Given the description of an element on the screen output the (x, y) to click on. 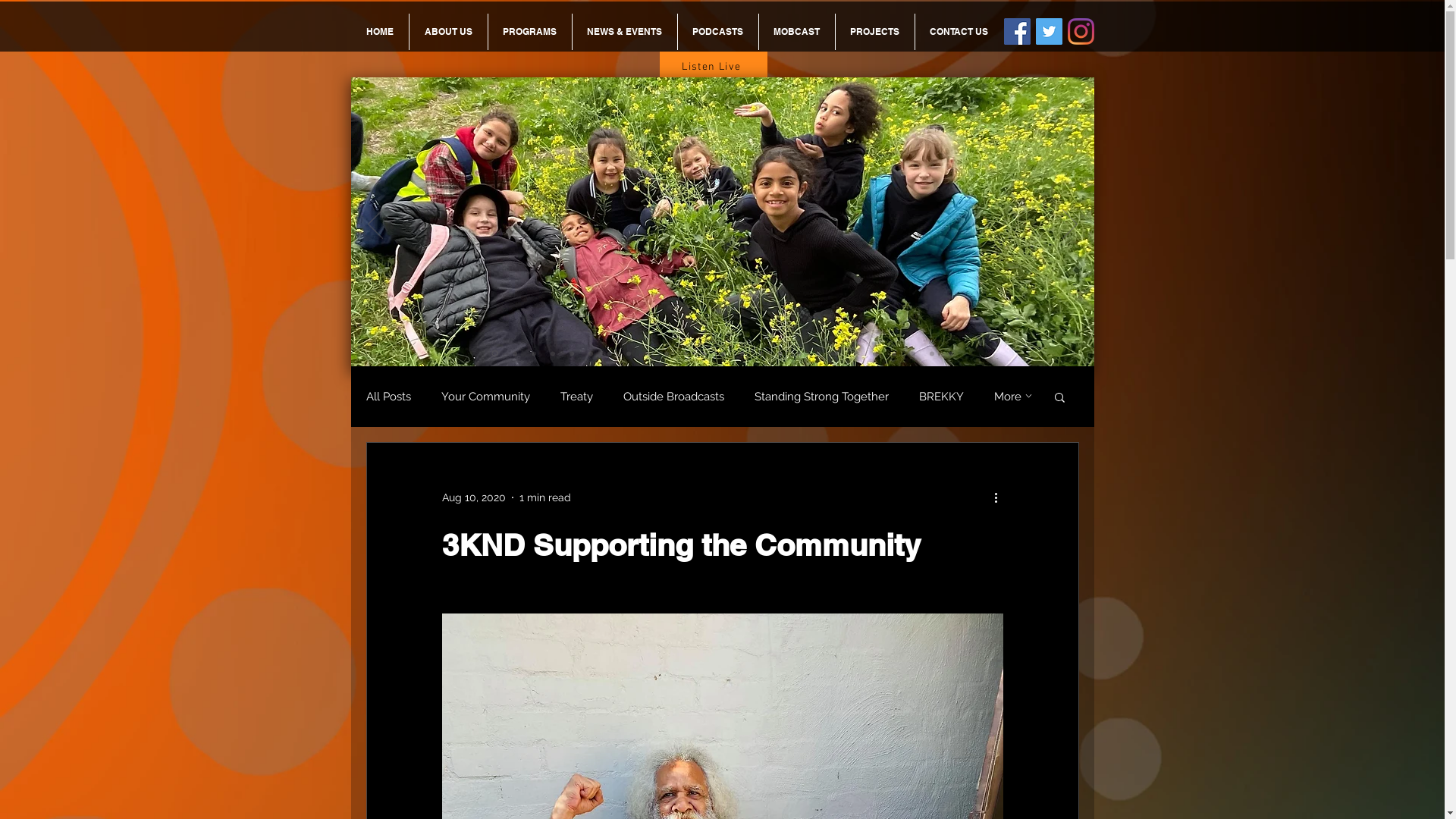
MOBCAST Element type: text (796, 31)
NEWS & EVENTS Element type: text (623, 31)
Standing Strong Together Element type: text (820, 396)
HOME Element type: text (378, 31)
Listen Live Element type: text (713, 66)
PODCASTS Element type: text (717, 31)
ABOUT US Element type: text (448, 31)
CONTACT US Element type: text (958, 31)
Treaty Element type: text (575, 396)
Your Community Element type: text (485, 396)
PROJECTS Element type: text (874, 31)
Outside Broadcasts Element type: text (673, 396)
BREKKY Element type: text (941, 396)
All Posts Element type: text (387, 396)
PROGRAMS Element type: text (529, 31)
